Given the description of an element on the screen output the (x, y) to click on. 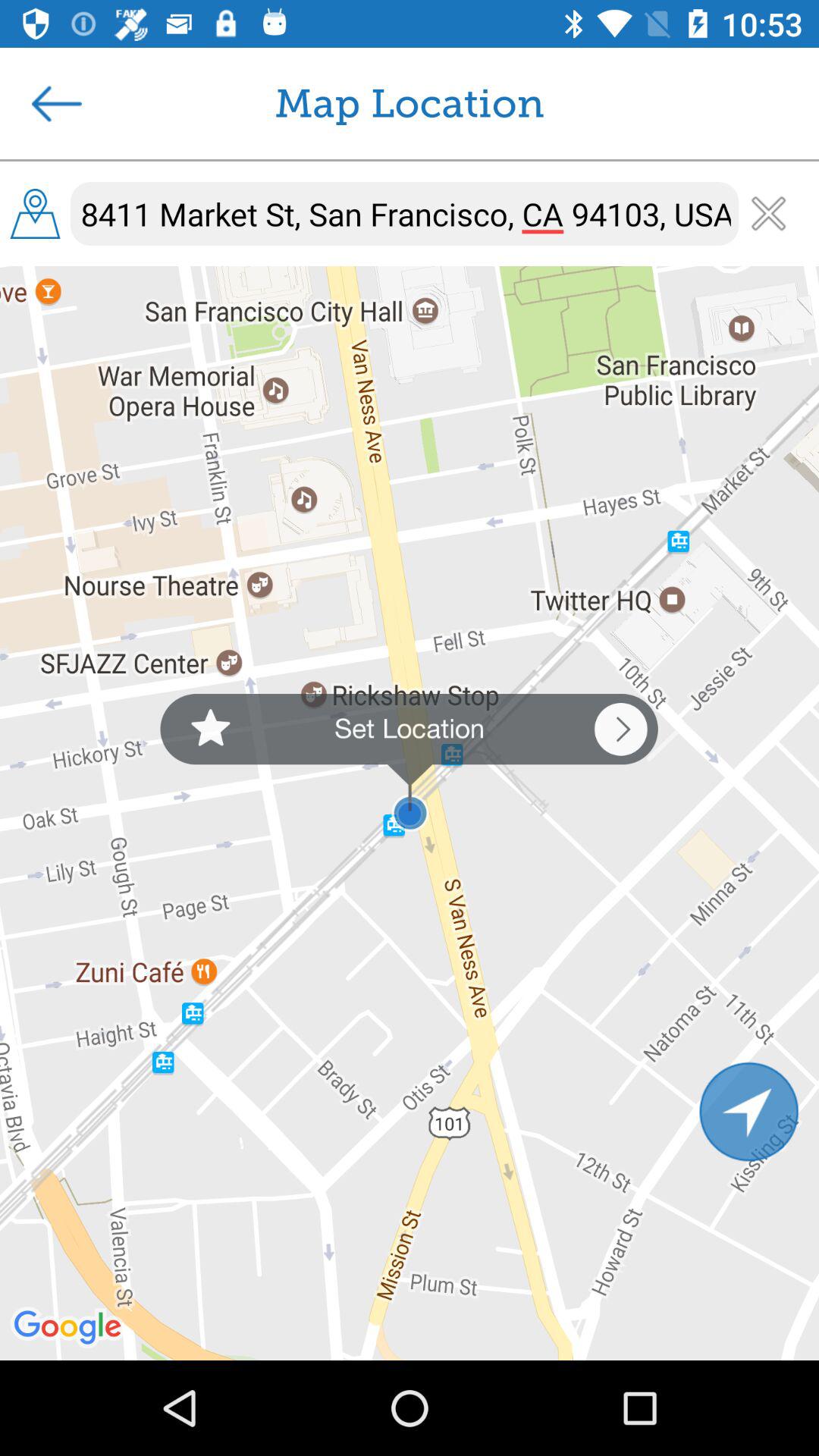
tap the icon below 8411 market st (409, 762)
